Given the description of an element on the screen output the (x, y) to click on. 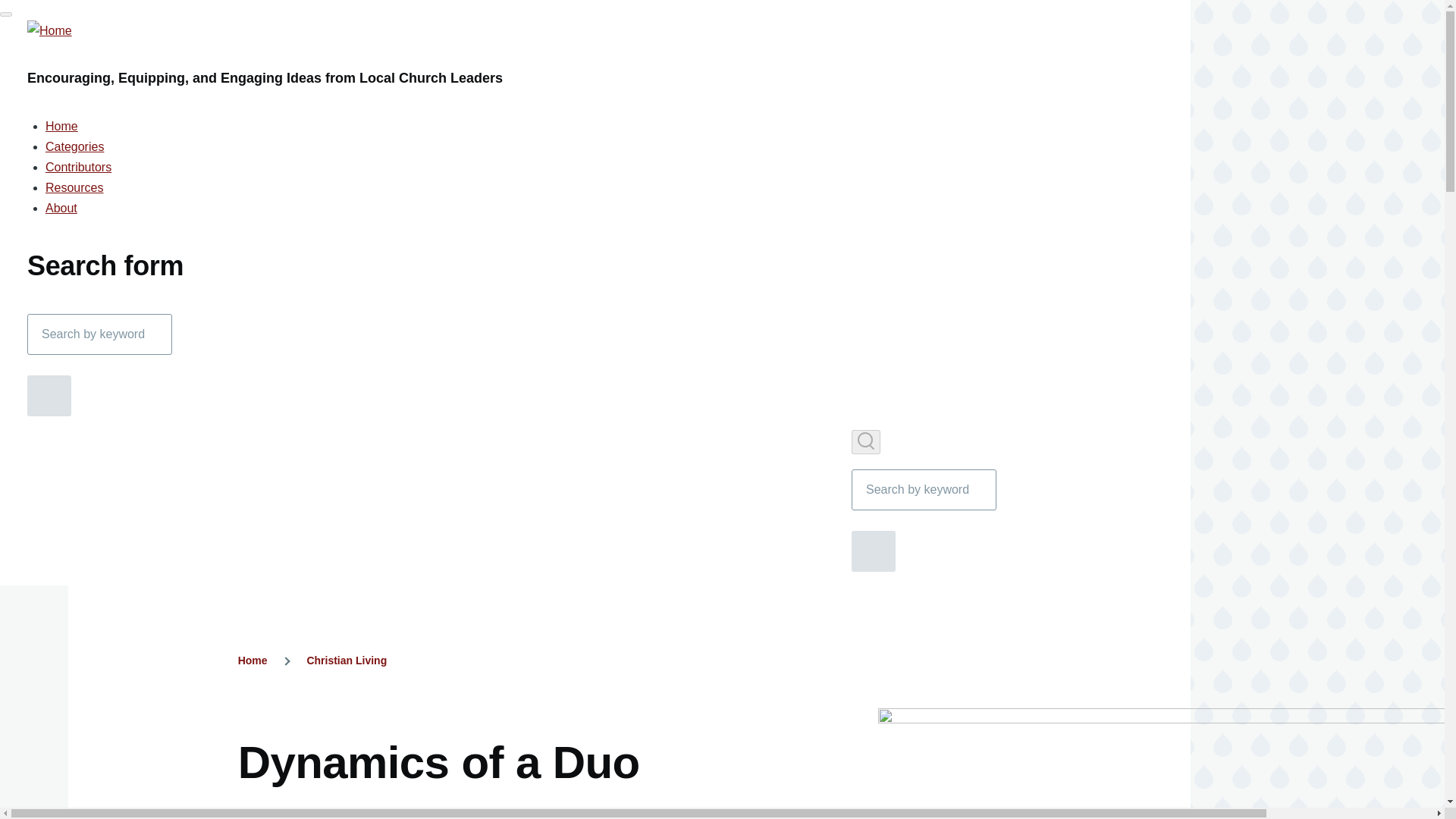
Contributors (78, 166)
Home (252, 660)
About (61, 207)
Enter the terms you wish to search for. (923, 489)
Home (61, 125)
Resources (74, 187)
Christian Living (346, 660)
Search (49, 395)
Search (873, 550)
